Given the description of an element on the screen output the (x, y) to click on. 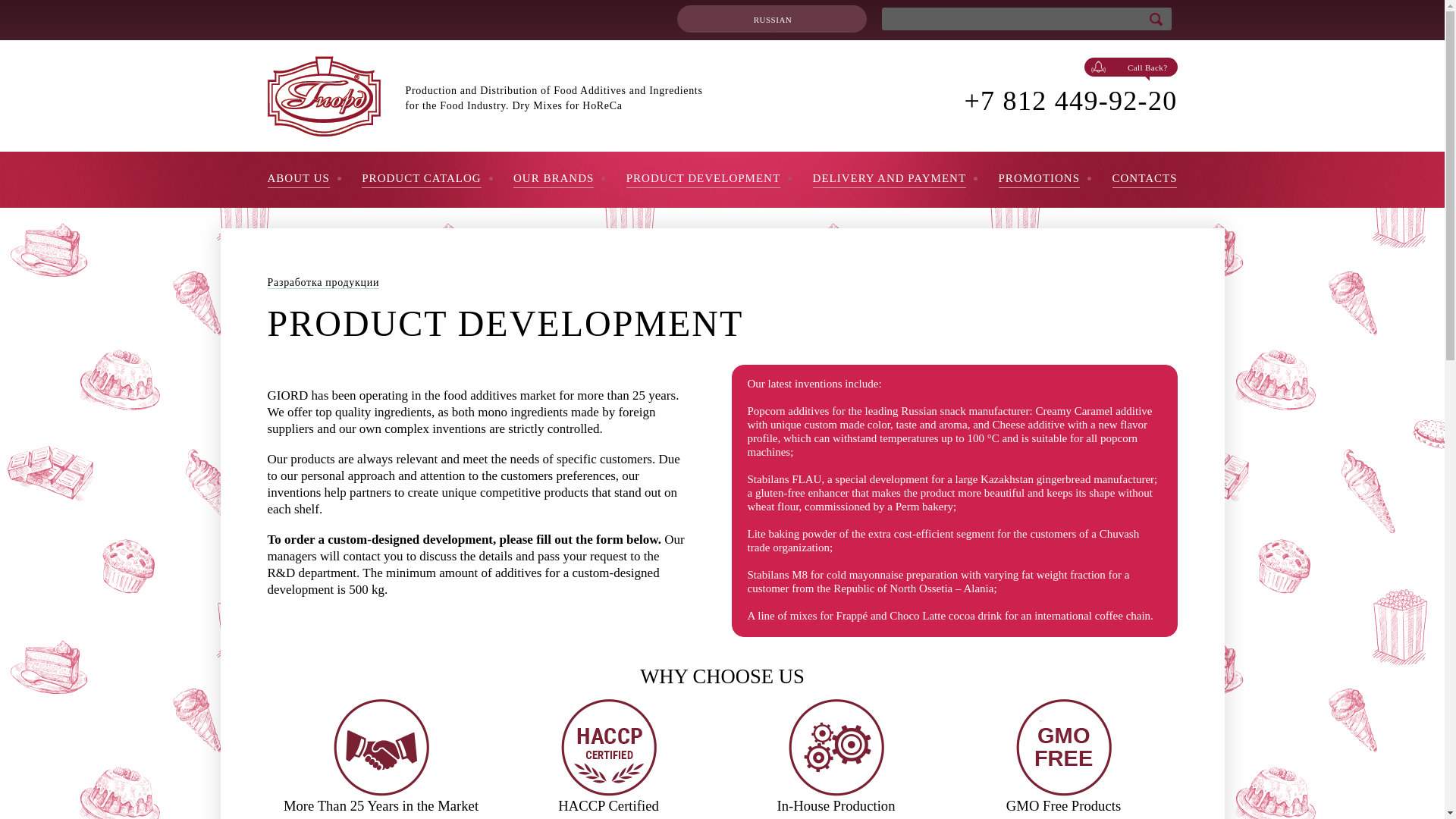
OUR BRANDS (553, 179)
PRODUCT DEVELOPMENT (703, 179)
DELIVERY AND PAYMENT (889, 179)
Call Back? (1130, 66)
CONTACTS (1144, 179)
PROMOTIONS (1039, 179)
PRODUCT CATALOG (420, 179)
ABOUT US (297, 179)
RUSSIAN (771, 18)
